Given the description of an element on the screen output the (x, y) to click on. 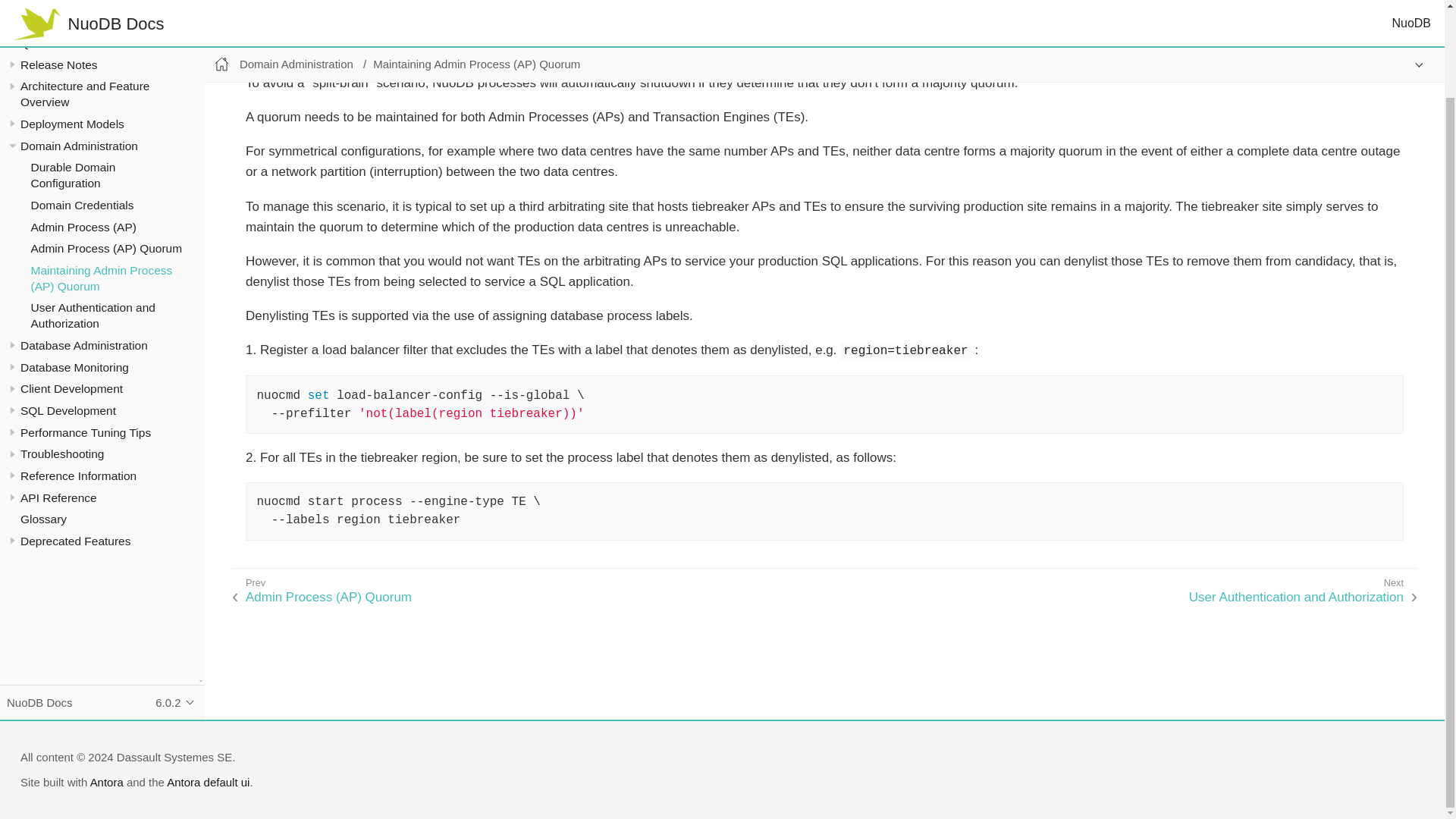
Architecture and Feature Overview (84, 93)
Release Notes (58, 64)
Introduction to NuoDB (77, 20)
NuoDB Docs (44, 2)
Quick Start Guides (69, 42)
